Given the description of an element on the screen output the (x, y) to click on. 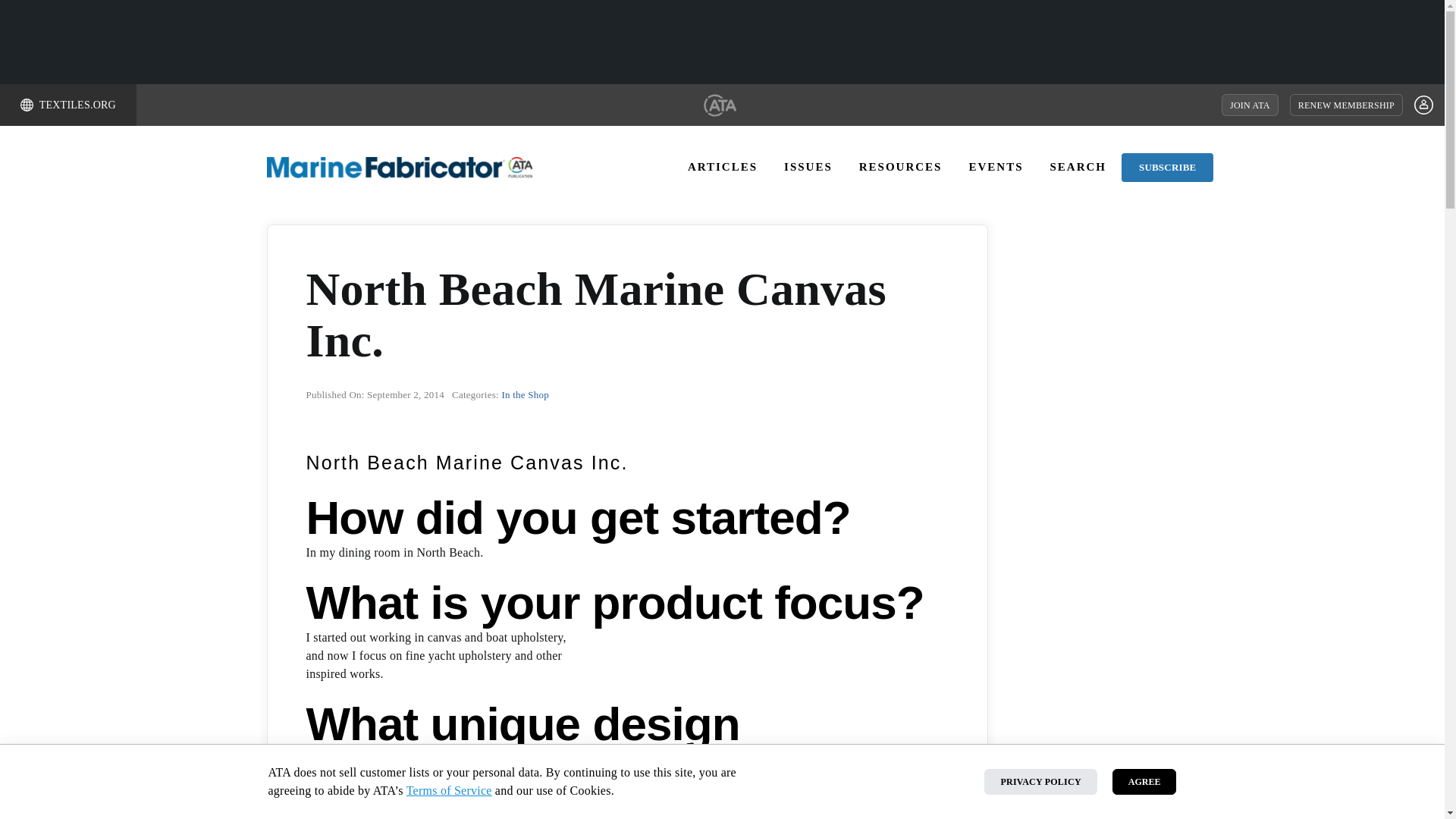
ISSUES (808, 166)
3rd party ad content (721, 41)
EVENTS (994, 166)
SEARCH (1078, 166)
RESOURCES (900, 166)
RENEW MEMBERSHIP (1346, 105)
In the Shop (524, 394)
ARTICLES (722, 166)
TEXTILES.ORG (68, 105)
JOIN ATA (1249, 105)
3rd party ad content (1138, 319)
SUBSCRIBE (1166, 167)
